Given the description of an element on the screen output the (x, y) to click on. 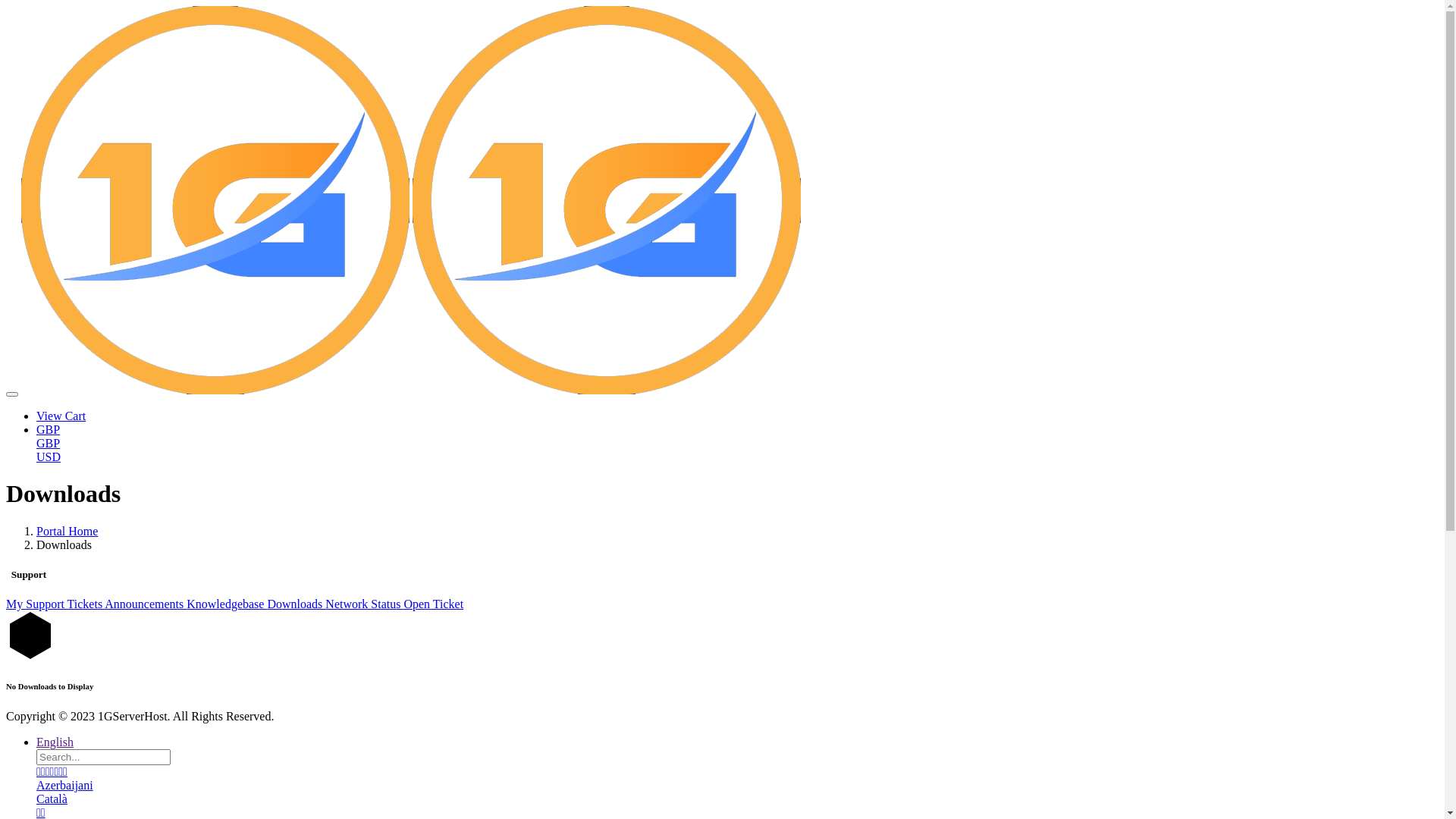
Open Ticket Element type: text (433, 603)
Network Status Element type: text (364, 603)
Knowledgebase Element type: text (226, 603)
GBP Element type: text (47, 429)
Announcements Element type: text (145, 603)
1GServerHost Element type: hover (606, 200)
Azerbaijani Element type: text (64, 784)
Portal Home Element type: text (66, 530)
View Cart Element type: text (60, 415)
USD Element type: text (48, 456)
1GServerHost Element type: hover (215, 200)
English Element type: text (54, 741)
Downloads Element type: text (295, 603)
GBP Element type: text (47, 442)
My Support Tickets Element type: text (55, 603)
